Given the description of an element on the screen output the (x, y) to click on. 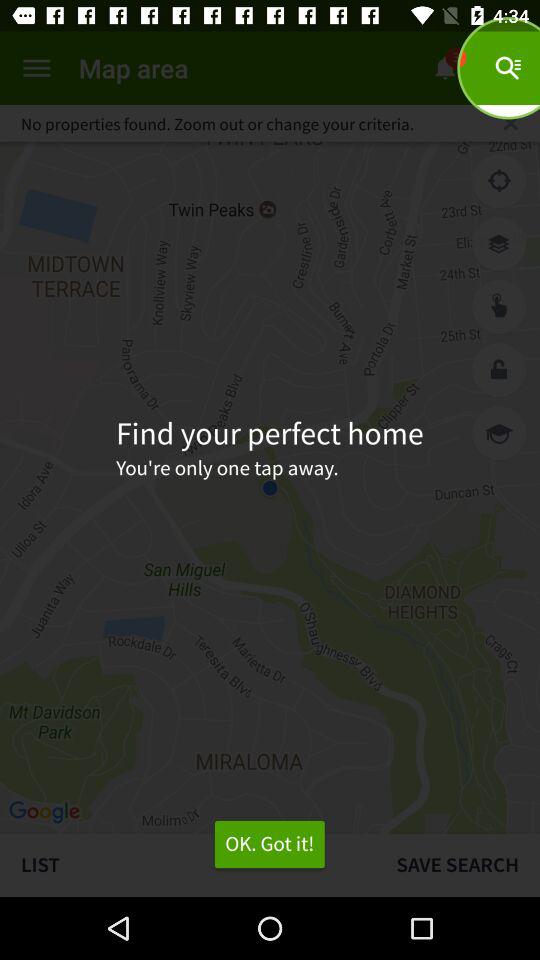
open the item above save search item (499, 432)
